Given the description of an element on the screen output the (x, y) to click on. 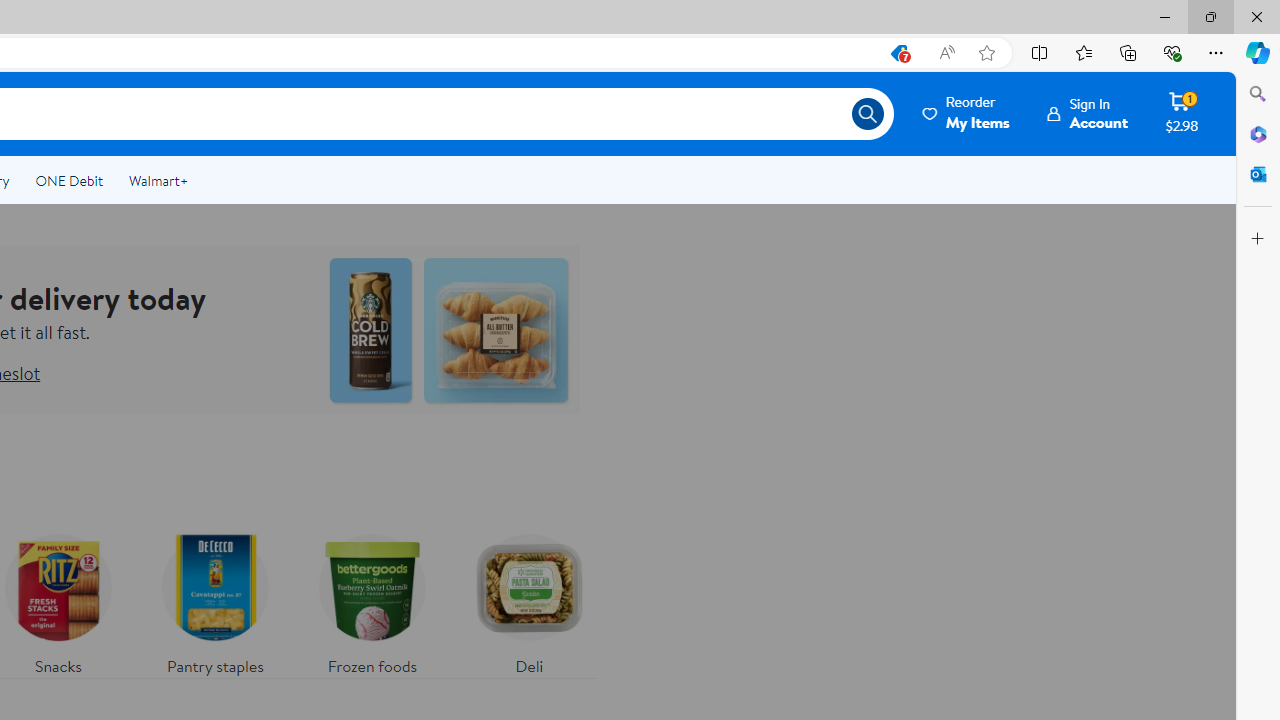
Pantry staples (214, 599)
Cart contains 1 item Total Amount $2.98 (1182, 113)
ONE Debit (68, 180)
Sign InAccount (1088, 113)
ReorderMy Items (967, 113)
Search icon (867, 113)
